Given the description of an element on the screen output the (x, y) to click on. 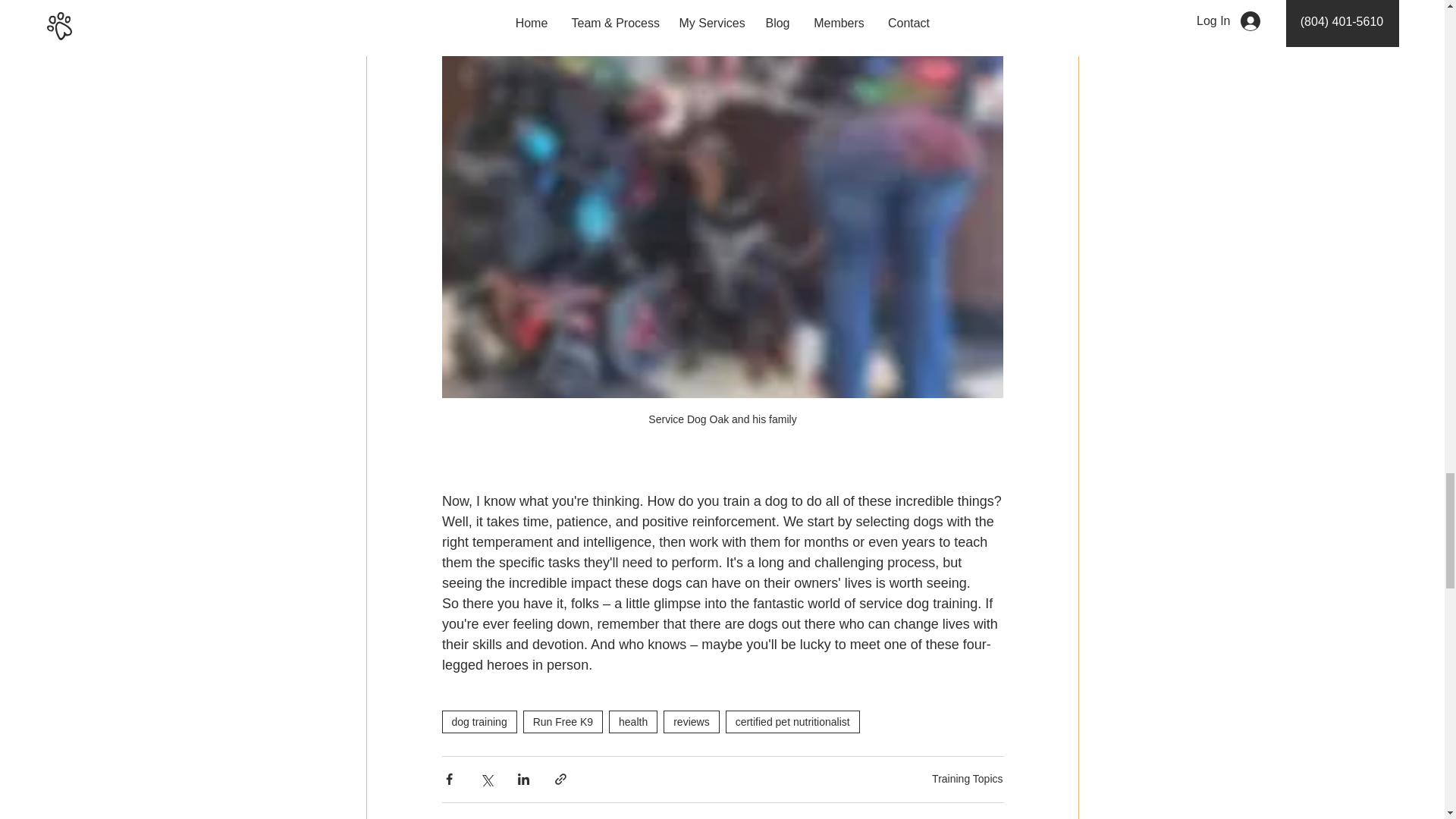
health (990, 818)
dog training (633, 721)
Run Free K9 (478, 721)
reviews (562, 721)
certified pet nutritionalist (691, 721)
Training Topics (792, 721)
